Given the description of an element on the screen output the (x, y) to click on. 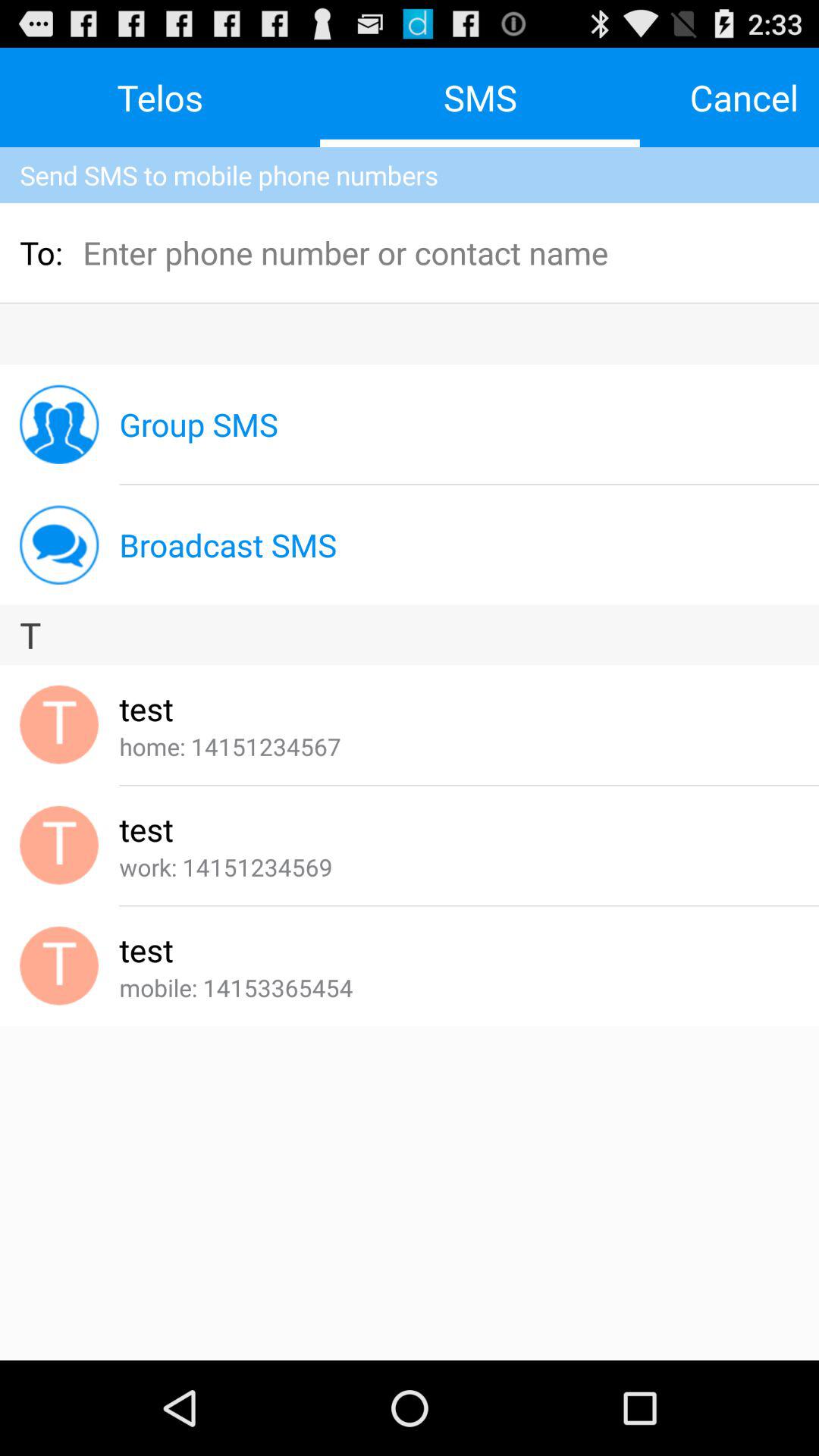
tap the app below the test (236, 987)
